Given the description of an element on the screen output the (x, y) to click on. 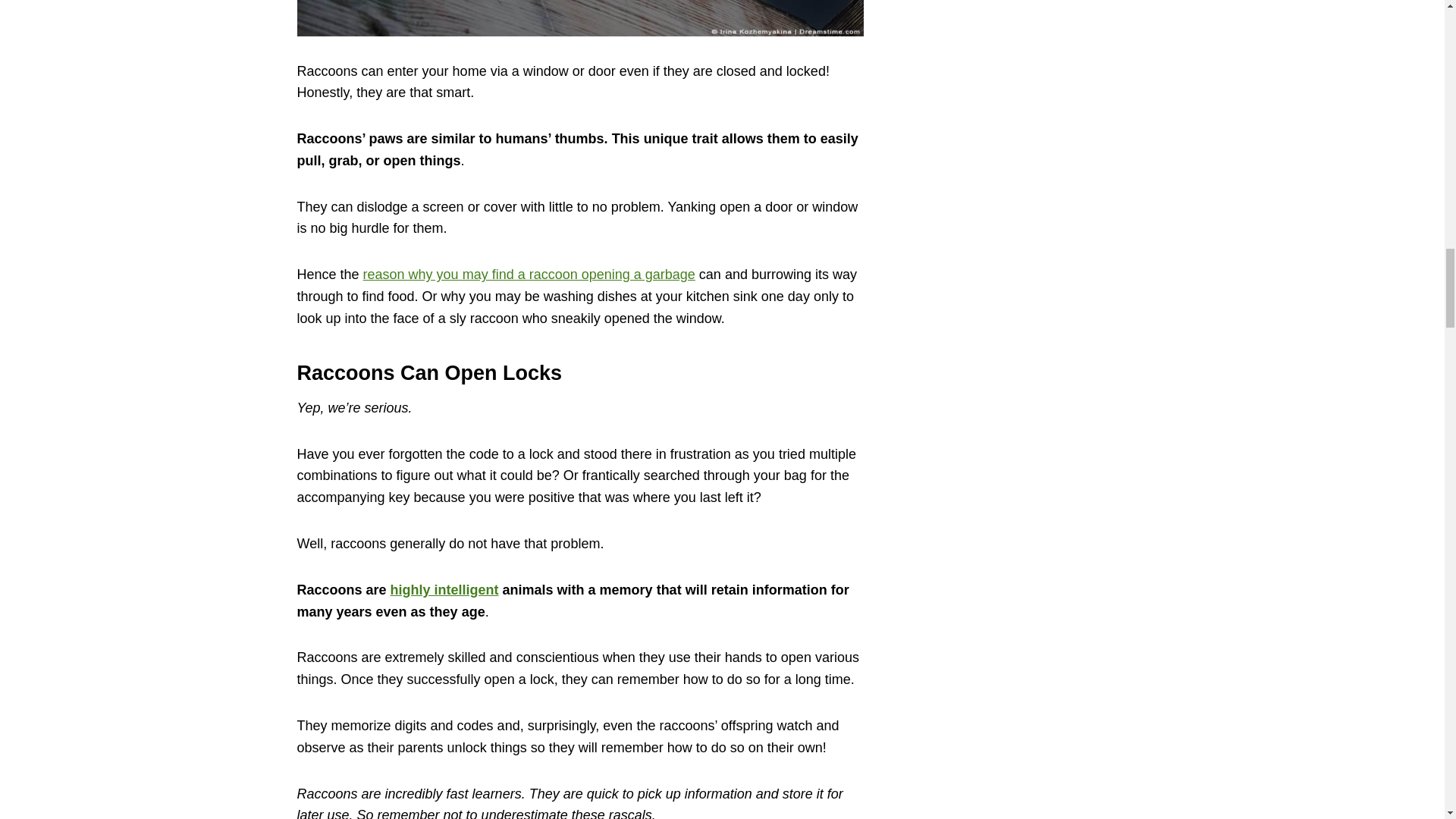
reason why you may find a raccoon opening a garbage (528, 273)
highly intelligent (444, 589)
